Given the description of an element on the screen output the (x, y) to click on. 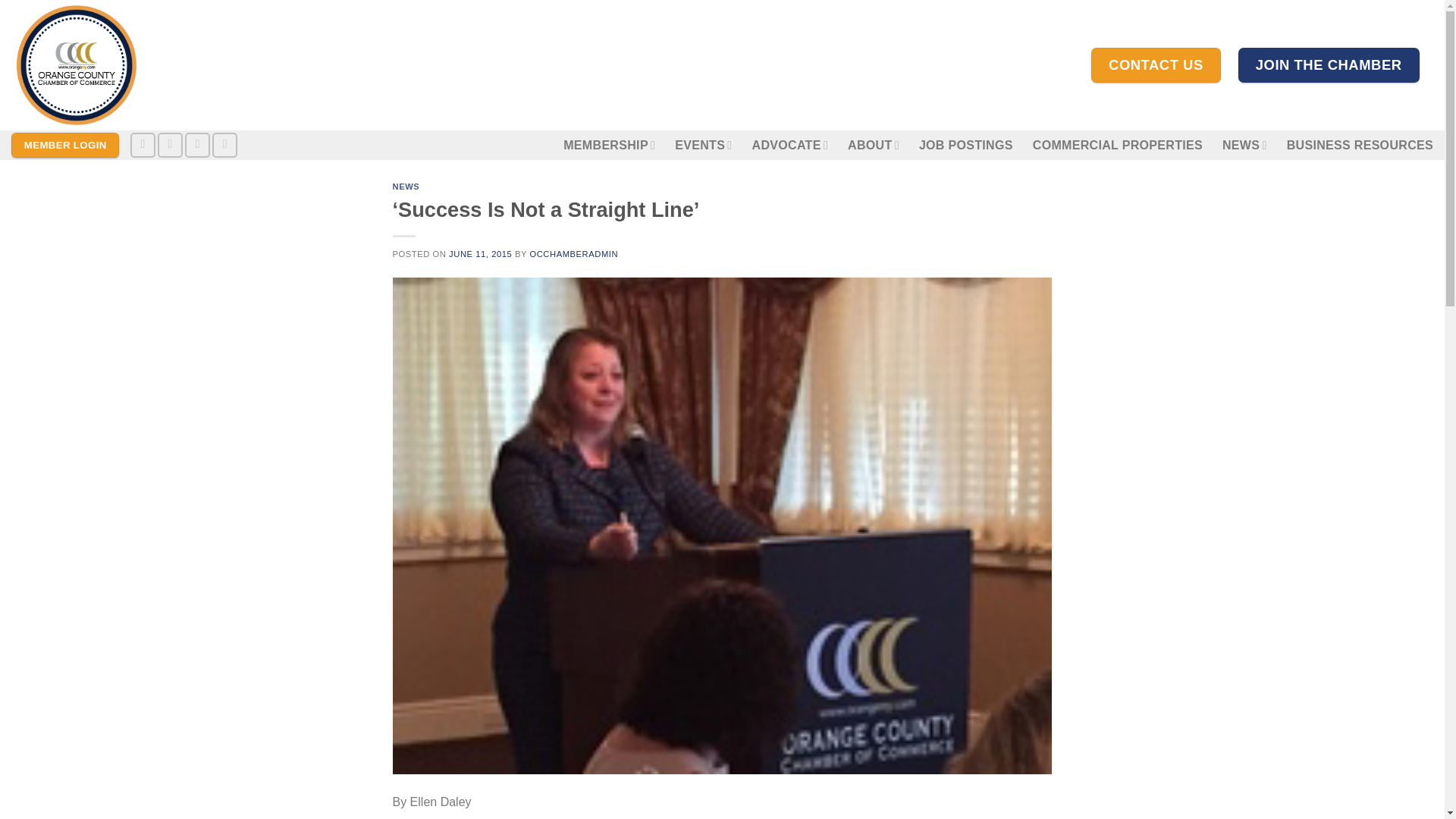
JOIN THE CHAMBER (1329, 64)
Orange County Chamber of Commerce (156, 65)
Follow on LinkedIn (196, 145)
Follow on Instagram (170, 145)
ADVOCATE (790, 144)
CONTACT US (1155, 64)
Follow on Facebook (143, 145)
ABOUT (873, 144)
Follow on YouTube (224, 145)
EVENTS (703, 144)
MEMBER LOGIN (65, 145)
MEMBERSHIP (609, 144)
